Given the description of an element on the screen output the (x, y) to click on. 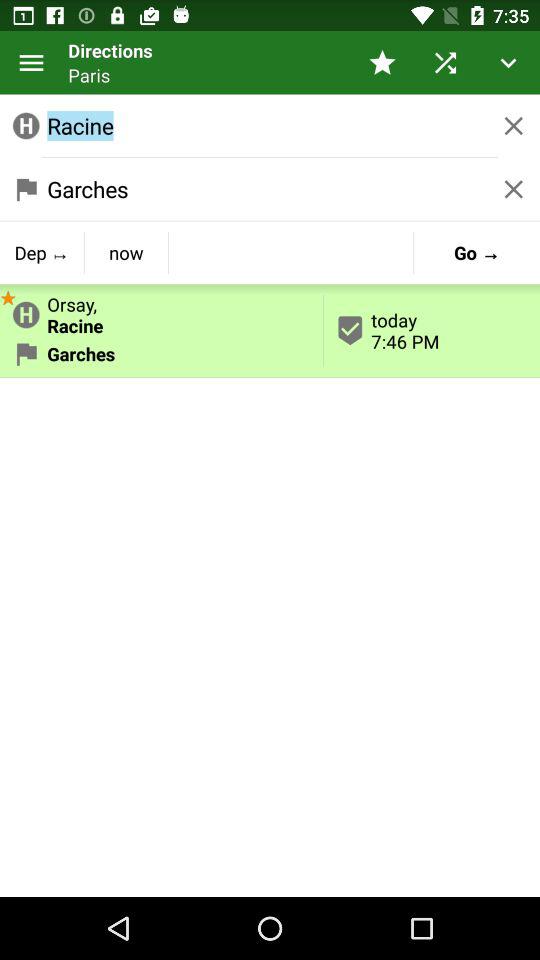
turn on icon above the racine (444, 62)
